Given the description of an element on the screen output the (x, y) to click on. 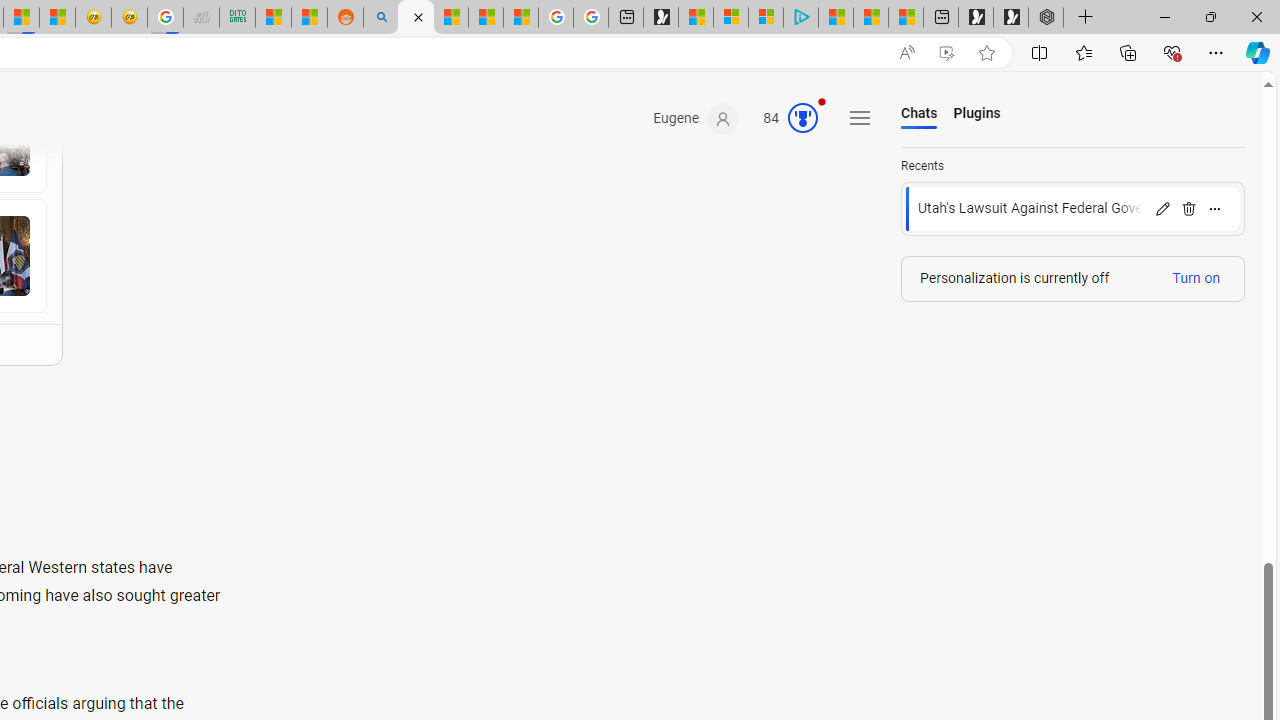
Animation (821, 101)
Chats (919, 113)
AutomationID: serp_medal_svg (803, 117)
Rename (1162, 208)
